Given the description of an element on the screen output the (x, y) to click on. 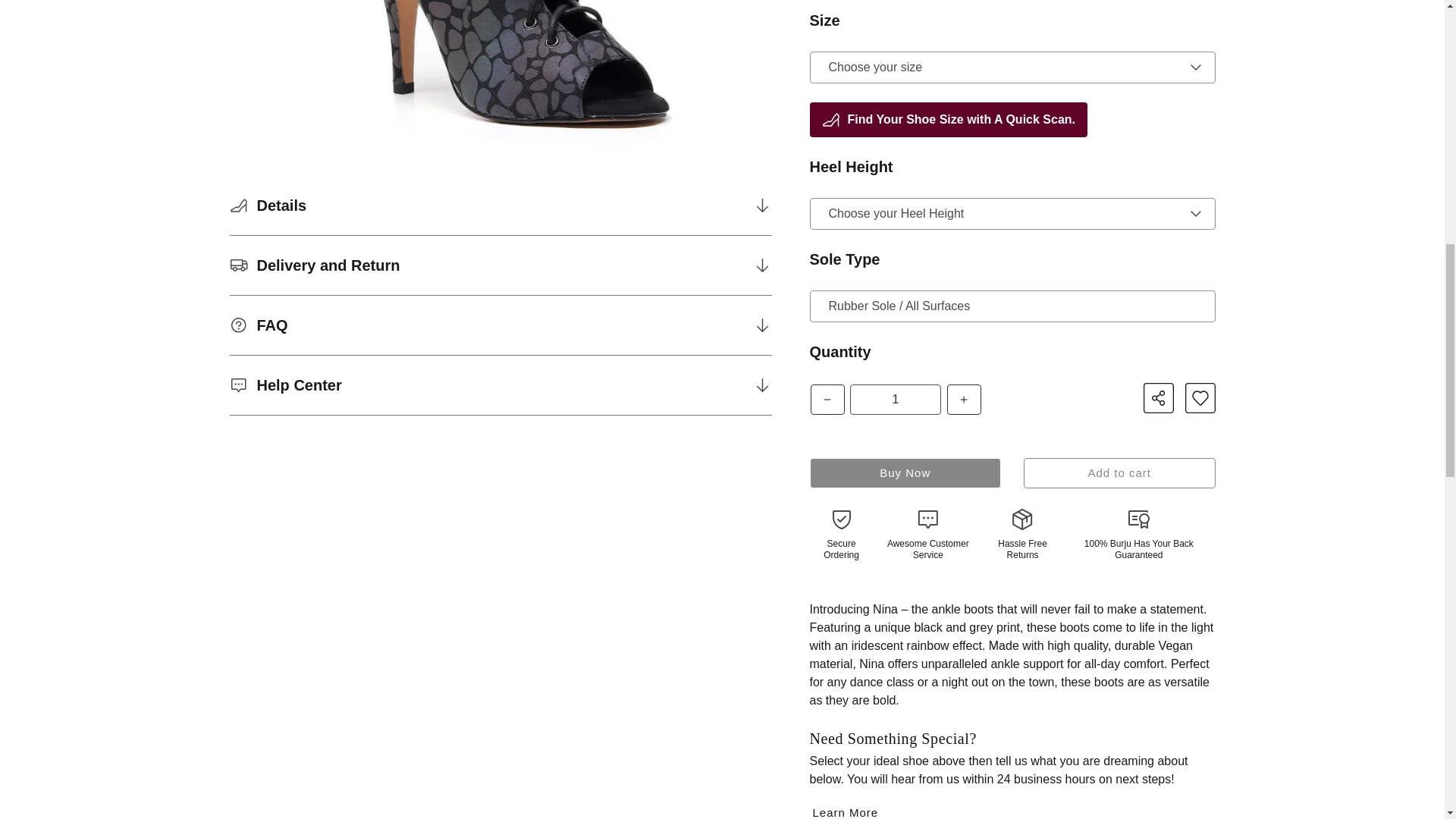
1 (895, 399)
Open media 1 in modal (499, 76)
